Given the description of an element on the screen output the (x, y) to click on. 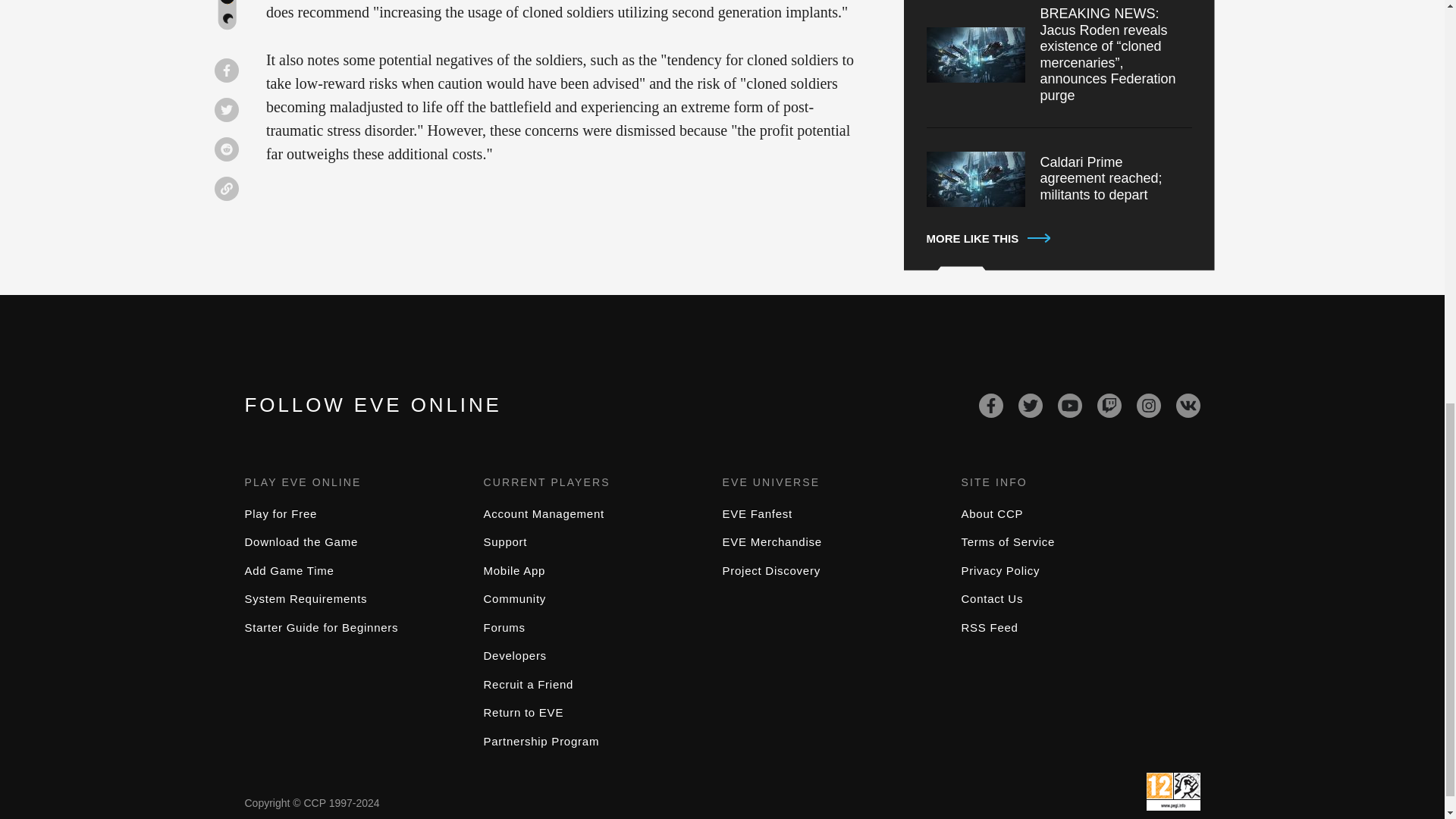
MORE LIKE THIS (1059, 239)
YouTube (1069, 405)
Instagram (1147, 405)
Developers (515, 655)
Mobile App (514, 570)
Starter Guide for Beginners (320, 626)
Forums (504, 626)
System Requirements (305, 598)
Add Game Time (288, 570)
Return to EVE (523, 712)
Support (505, 541)
Partnership Program (541, 740)
Recruit a Friend (528, 684)
Caldari Prime agreement reached; militants to depart (1059, 179)
Play for Free (280, 513)
